Given the description of an element on the screen output the (x, y) to click on. 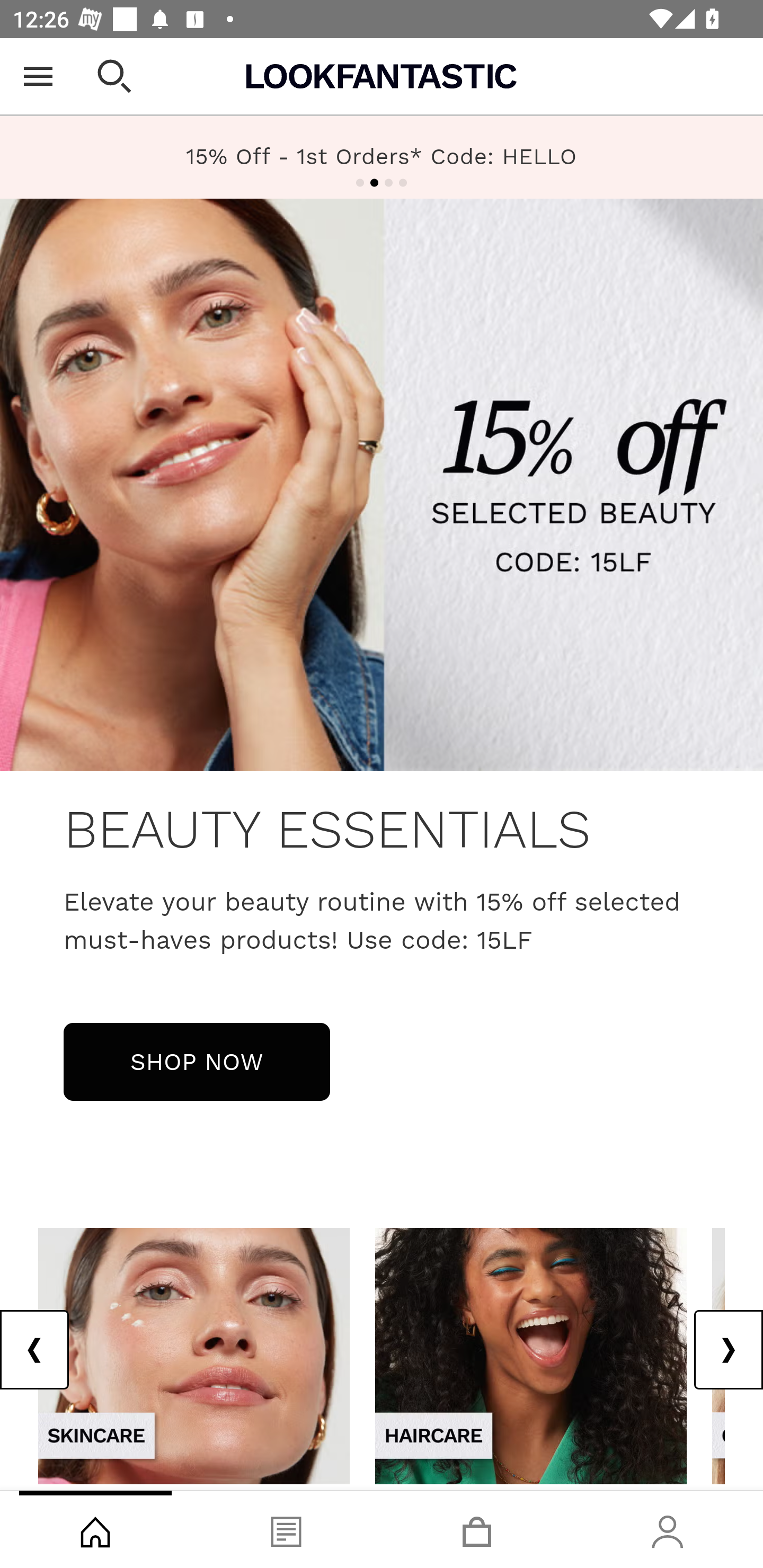
Open Menu (38, 75)
Open search (114, 75)
Lookfantastic USA (381, 75)
SHOP NOW (196, 1061)
view-all (193, 1355)
view-all (530, 1355)
Previous (35, 1349)
Next (727, 1349)
Shop, tab, 1 of 4 (95, 1529)
Blog, tab, 2 of 4 (285, 1529)
Basket, tab, 3 of 4 (476, 1529)
Account, tab, 4 of 4 (667, 1529)
